Given the description of an element on the screen output the (x, y) to click on. 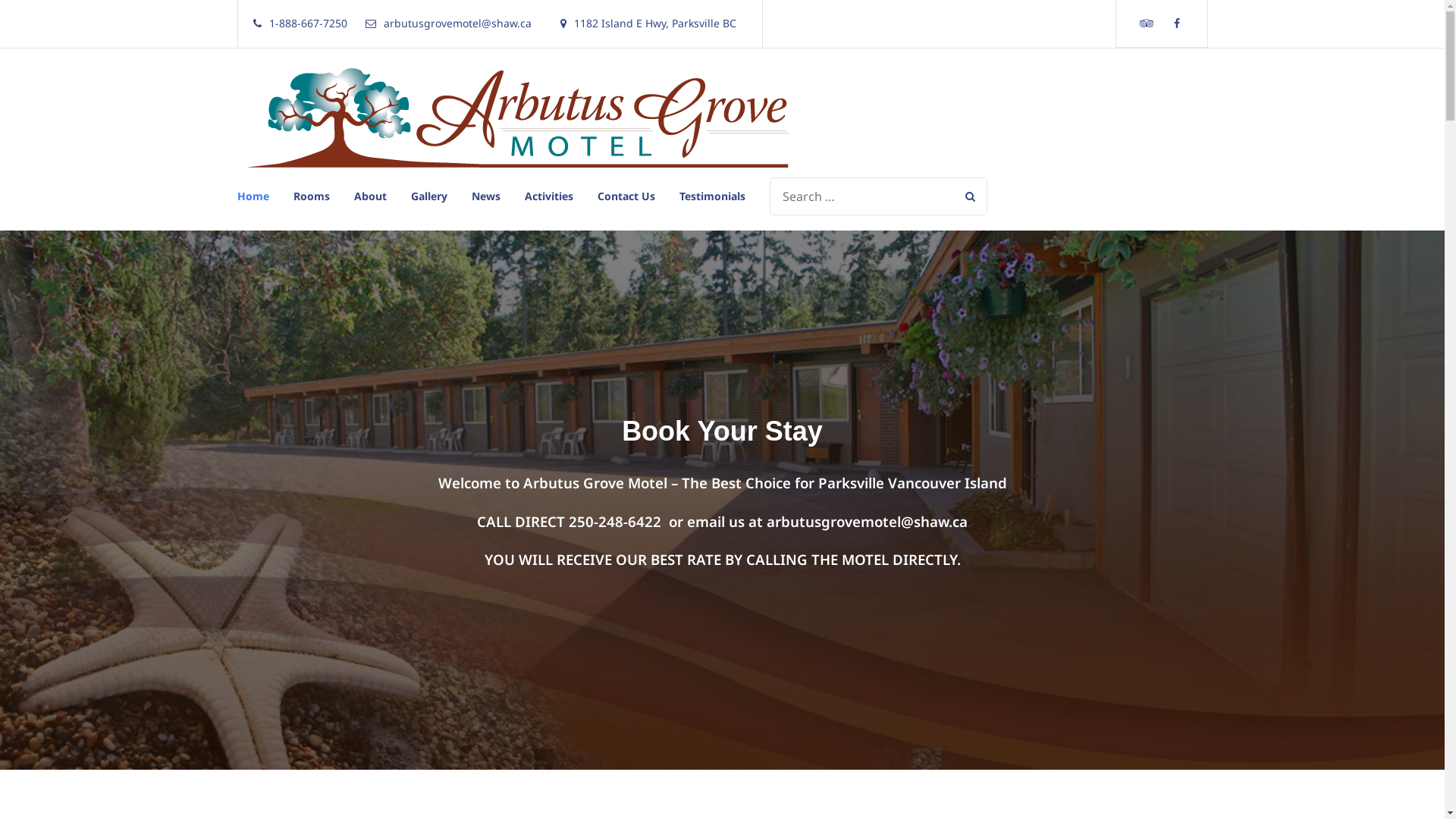
Home Element type: text (258, 196)
arbutusgrovemotel@shaw.ca Element type: text (866, 520)
arbutusgrovemotel@shaw.ca Element type: text (448, 23)
Activities Element type: text (548, 196)
1-888-667-7250 Element type: text (300, 23)
About Element type: text (369, 196)
1182 Island E Hwy, Parksville BC Element type: text (647, 23)
Gallery Element type: text (428, 196)
Rooms Element type: text (310, 196)
News Element type: text (485, 196)
Tripadvisor Element type: text (1146, 23)
Facebook Element type: text (1176, 23)
Testimonials Element type: text (706, 196)
Contact Us Element type: text (626, 196)
